Given the description of an element on the screen output the (x, y) to click on. 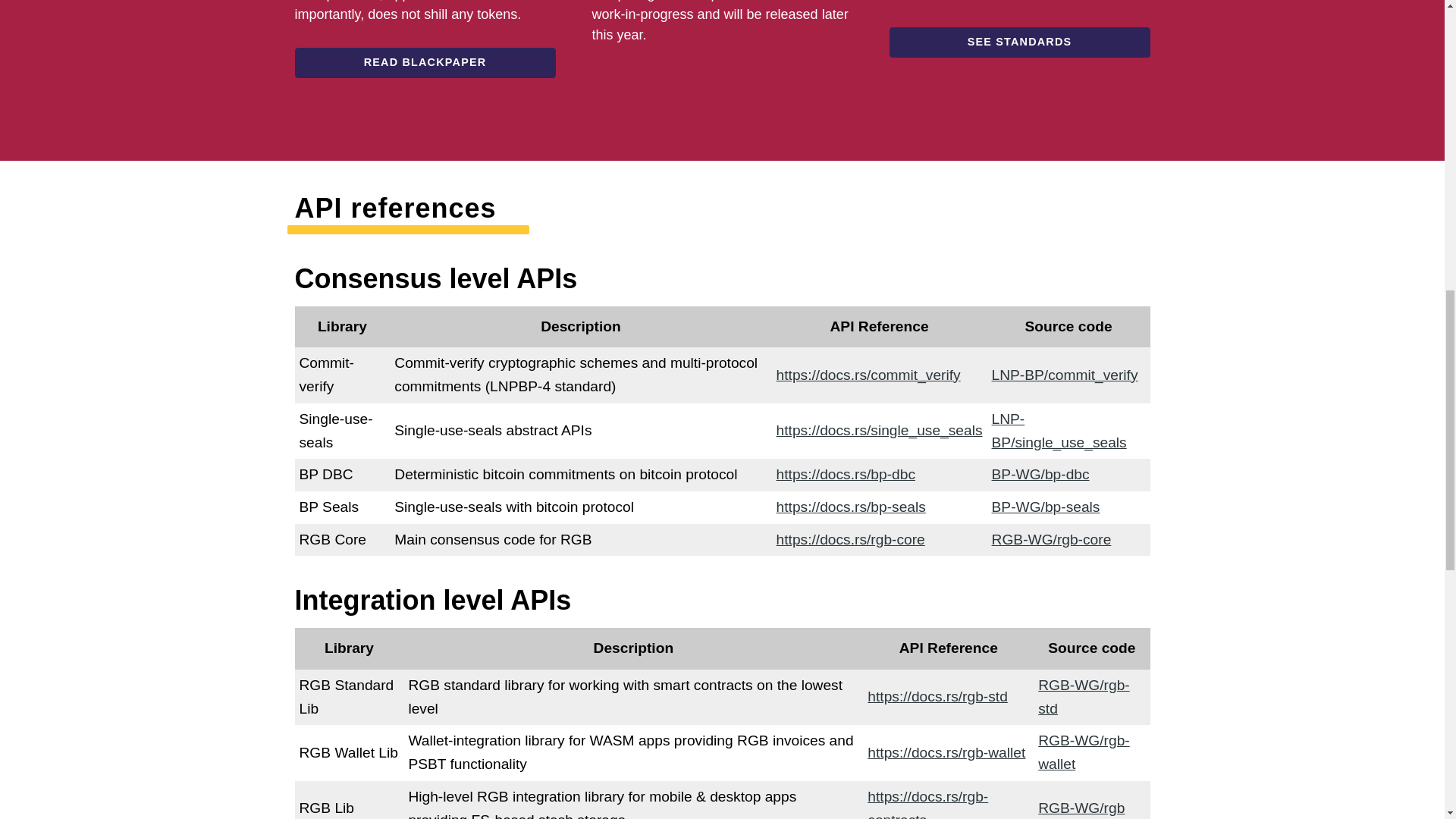
READ BLACKPAPER (424, 62)
SEE STANDARDS (1019, 42)
